Given the description of an element on the screen output the (x, y) to click on. 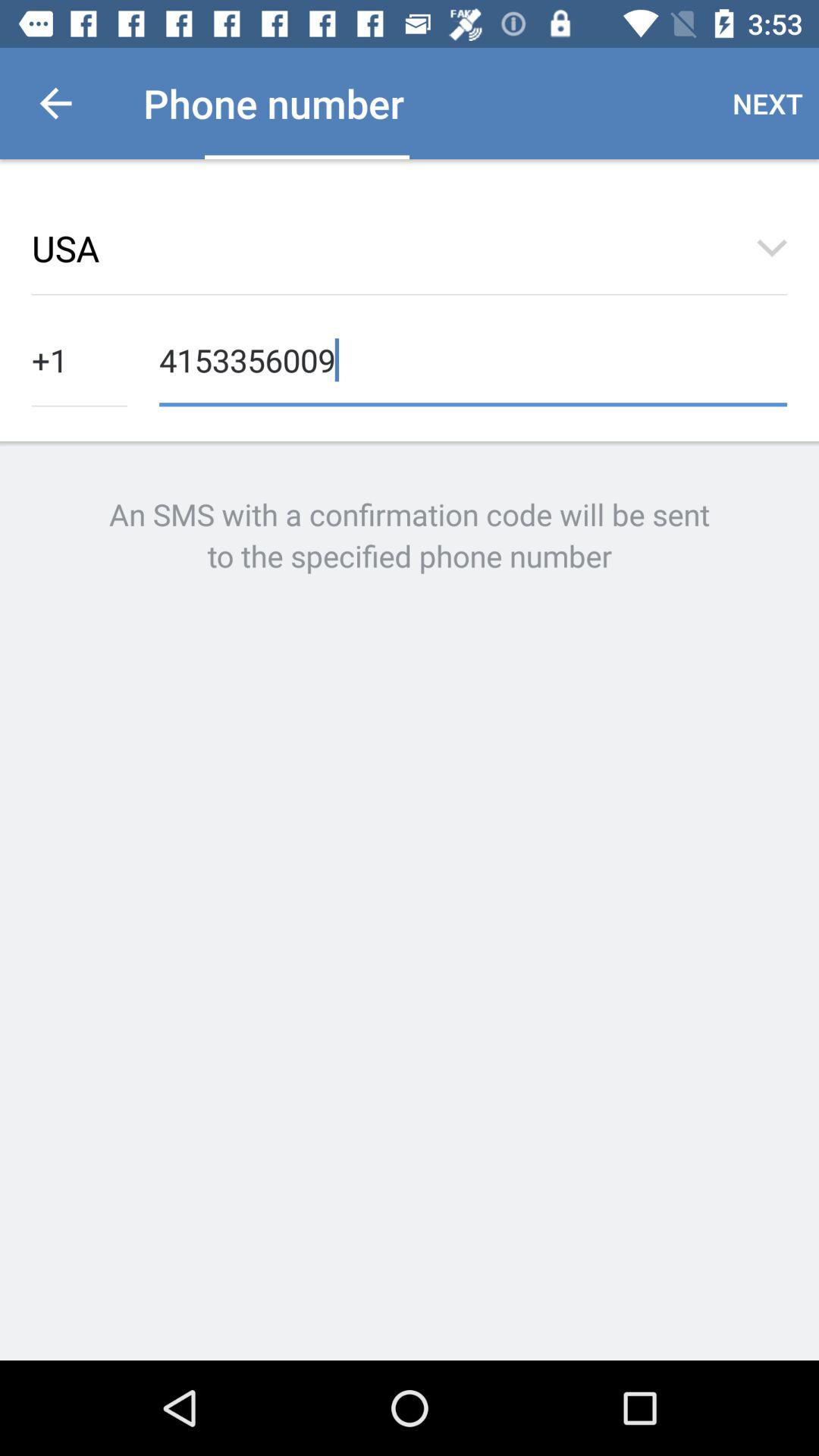
launch the icon above usa (55, 103)
